Given the description of an element on the screen output the (x, y) to click on. 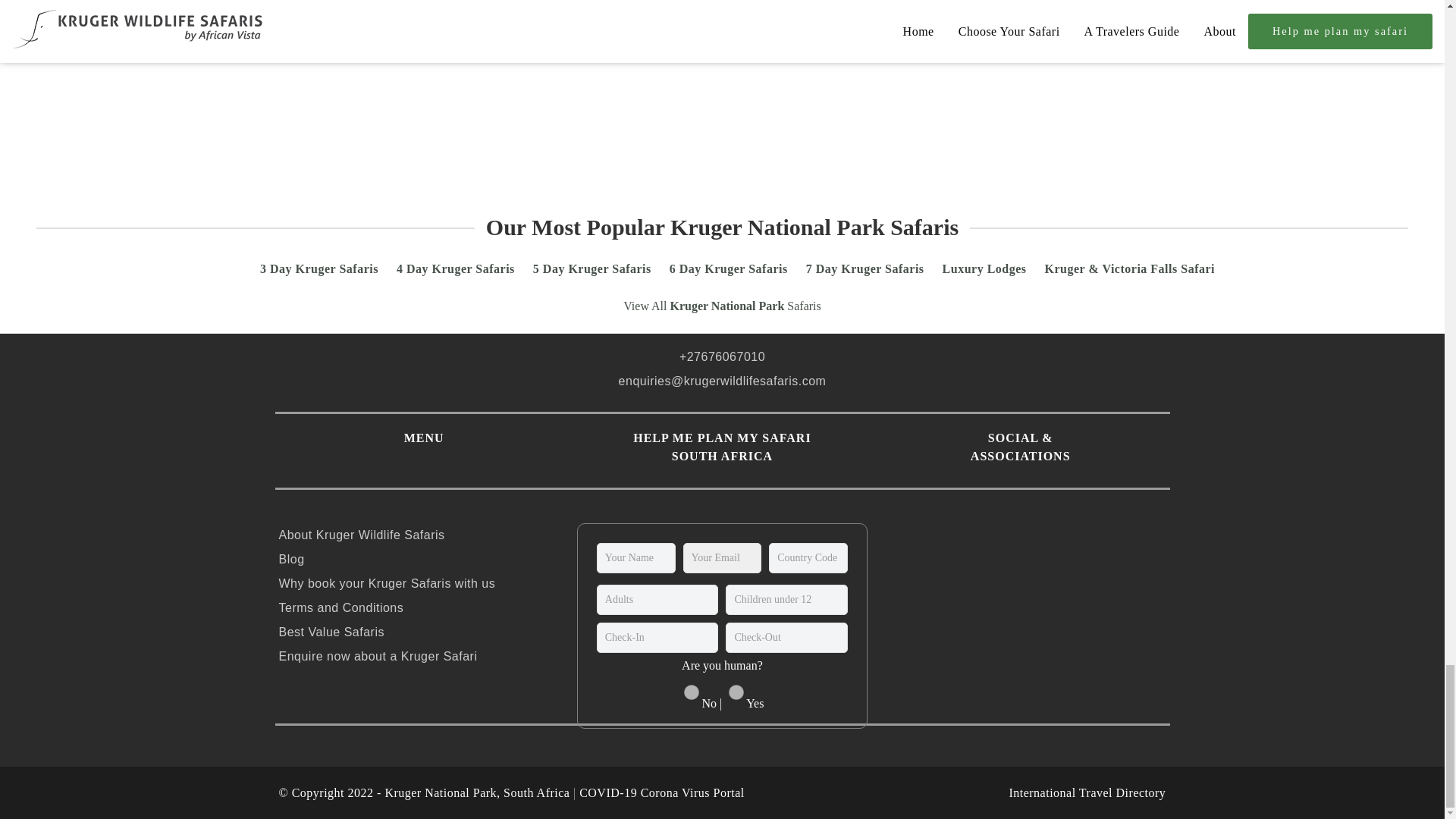
on (736, 692)
on (691, 692)
